Given the description of an element on the screen output the (x, y) to click on. 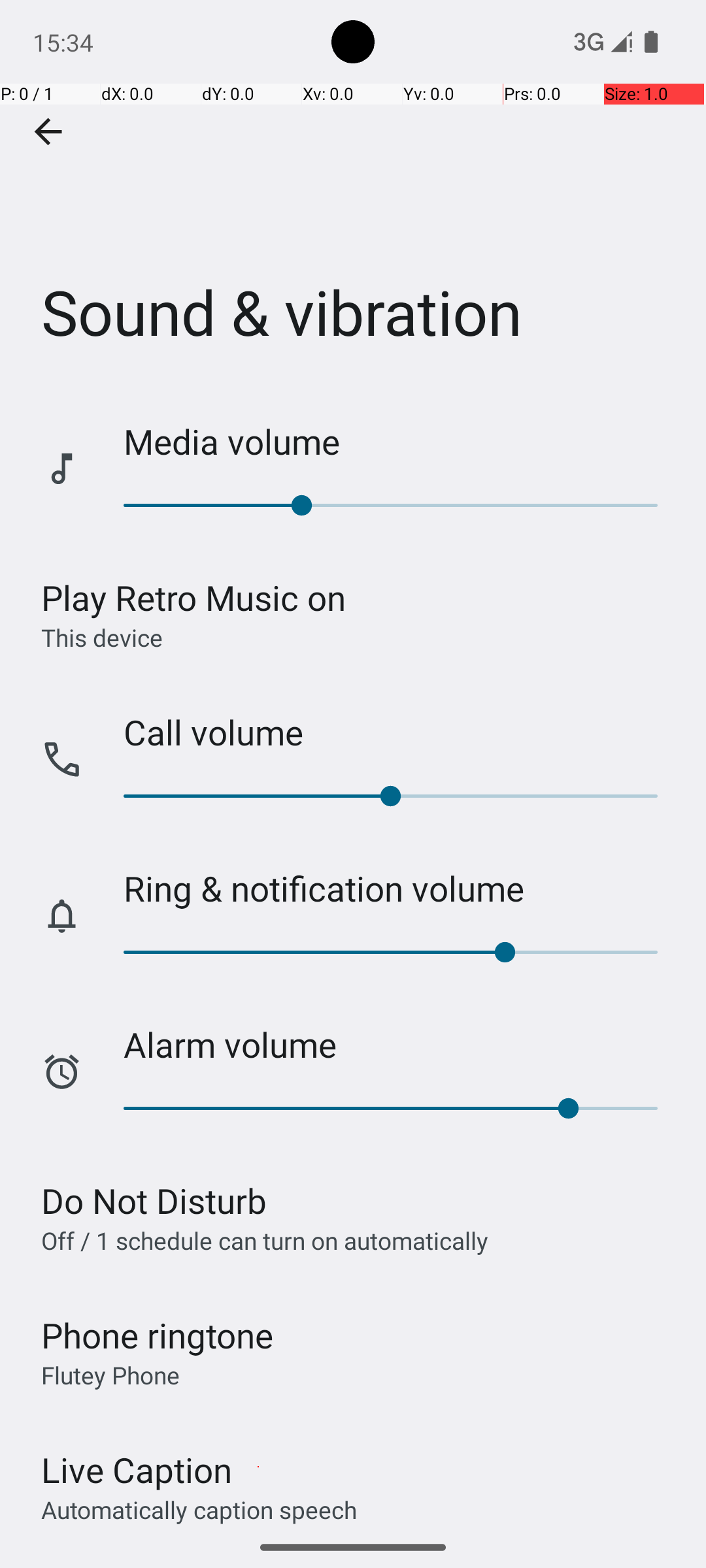
Media volume Element type: android.widget.TextView (400, 441)
Play Retro Music on Element type: android.widget.TextView (193, 597)
This device Element type: android.widget.TextView (101, 636)
Call volume Element type: android.widget.TextView (400, 731)
Ring & notification volume Element type: android.widget.TextView (400, 888)
Off / 1 schedule can turn on automatically Element type: android.widget.TextView (264, 1240)
Automatically caption speech Element type: android.widget.TextView (199, 1509)
